Given the description of an element on the screen output the (x, y) to click on. 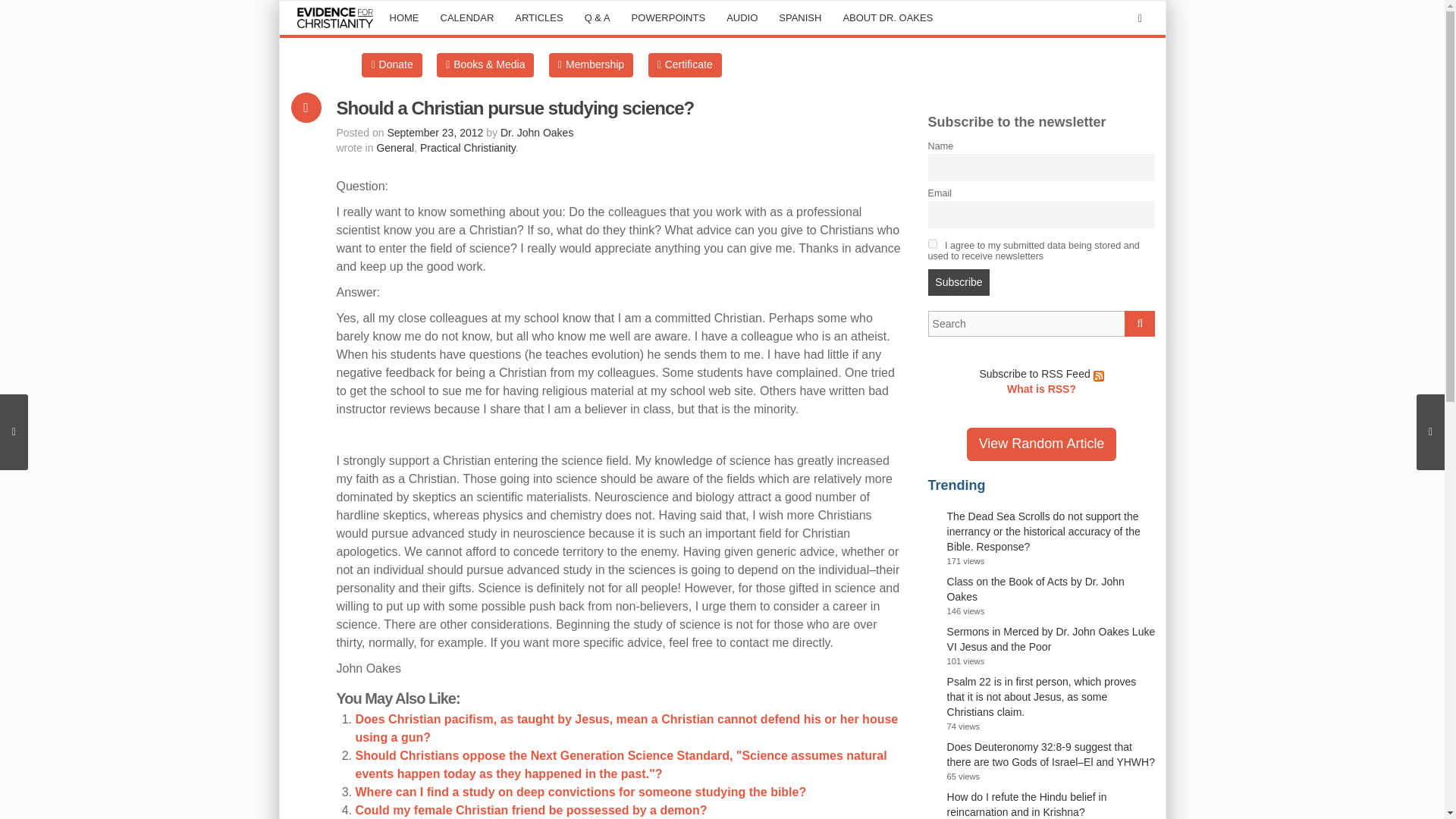
logo (334, 17)
Could my female Christian friend be possessed by a demon? (530, 809)
Subscribe (959, 282)
CALENDAR (466, 18)
HOME (403, 18)
home (403, 18)
on (932, 243)
ARTICLES (538, 18)
